Given the description of an element on the screen output the (x, y) to click on. 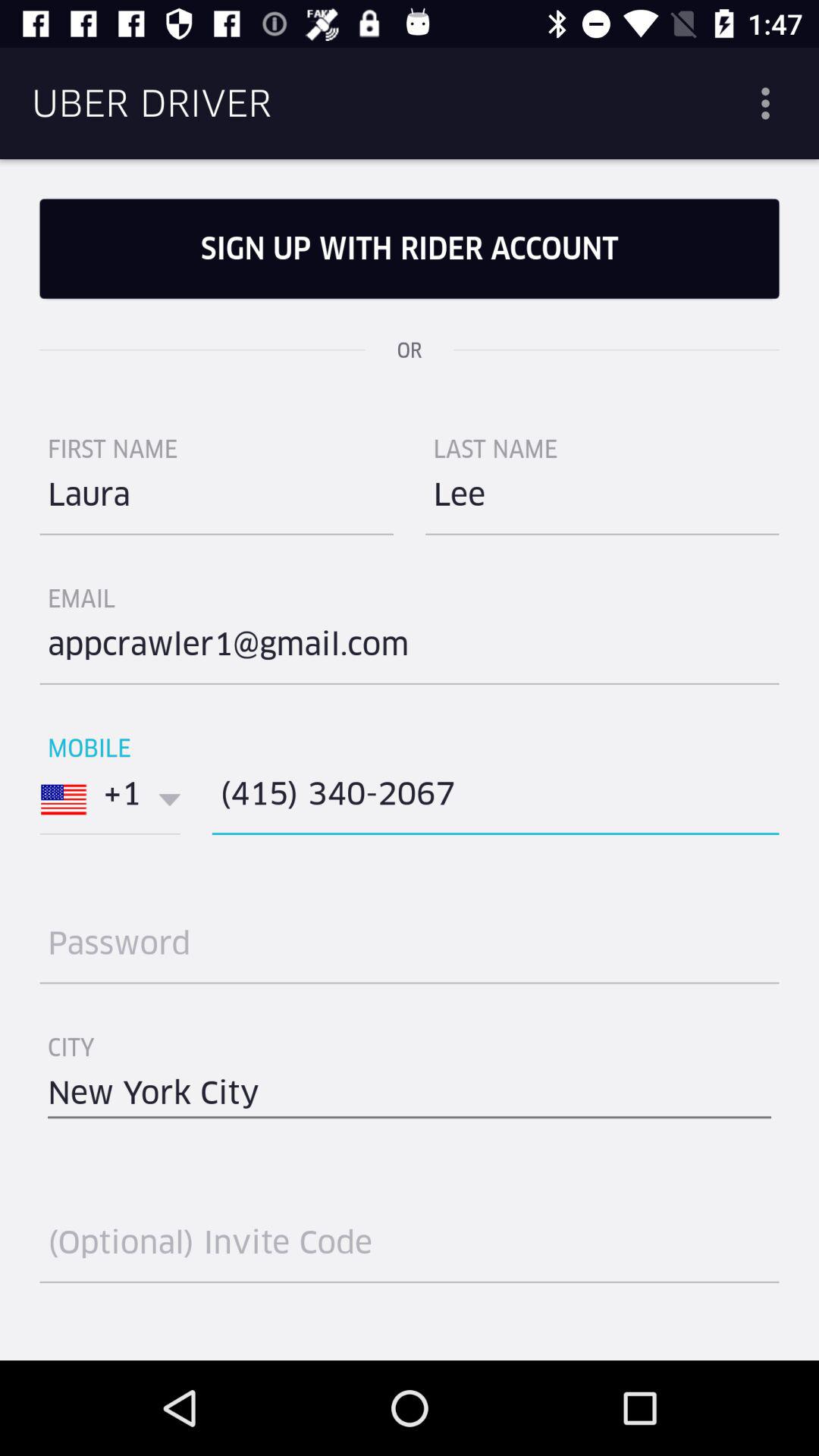
turn on icon to the right of +1 (495, 799)
